Given the description of an element on the screen output the (x, y) to click on. 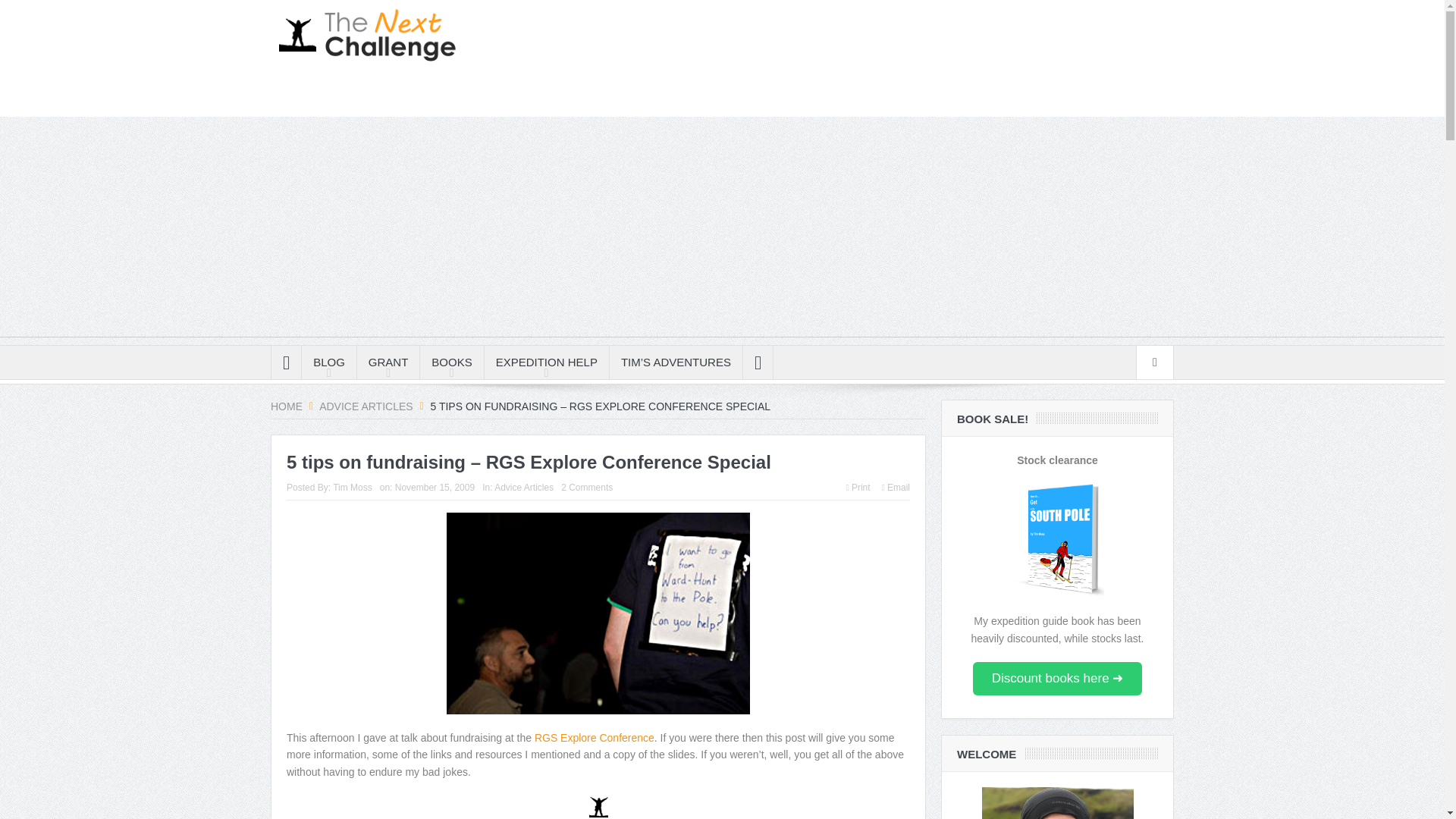
BOOKS (451, 362)
View all posts in Advice Articles (524, 487)
GRANT (388, 362)
EXPEDITION HELP (546, 362)
RGS Explore Conference (593, 737)
Advice Articles (365, 406)
BLOG (328, 362)
